Given the description of an element on the screen output the (x, y) to click on. 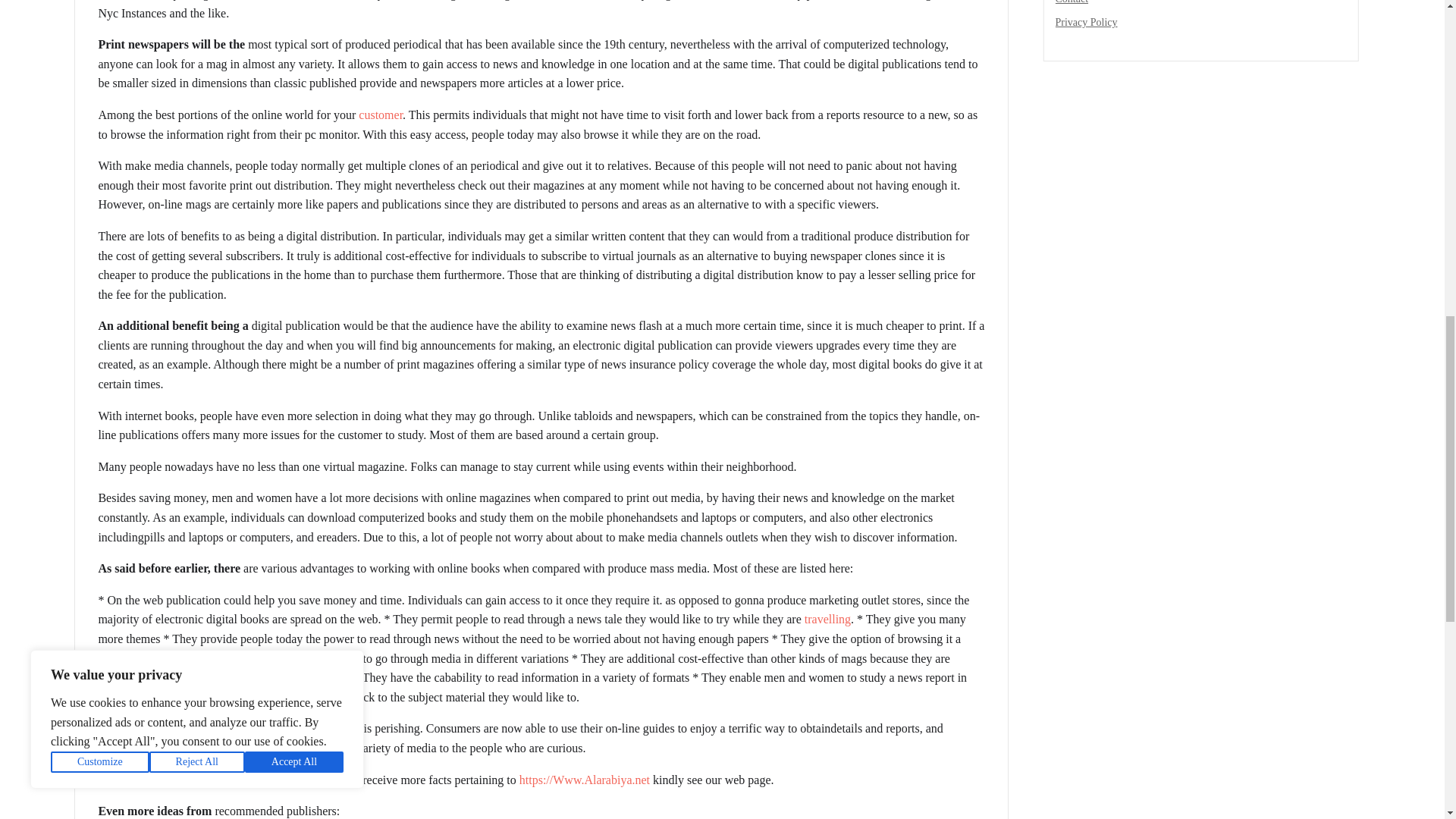
travelling (827, 618)
customer (380, 114)
